Given the description of an element on the screen output the (x, y) to click on. 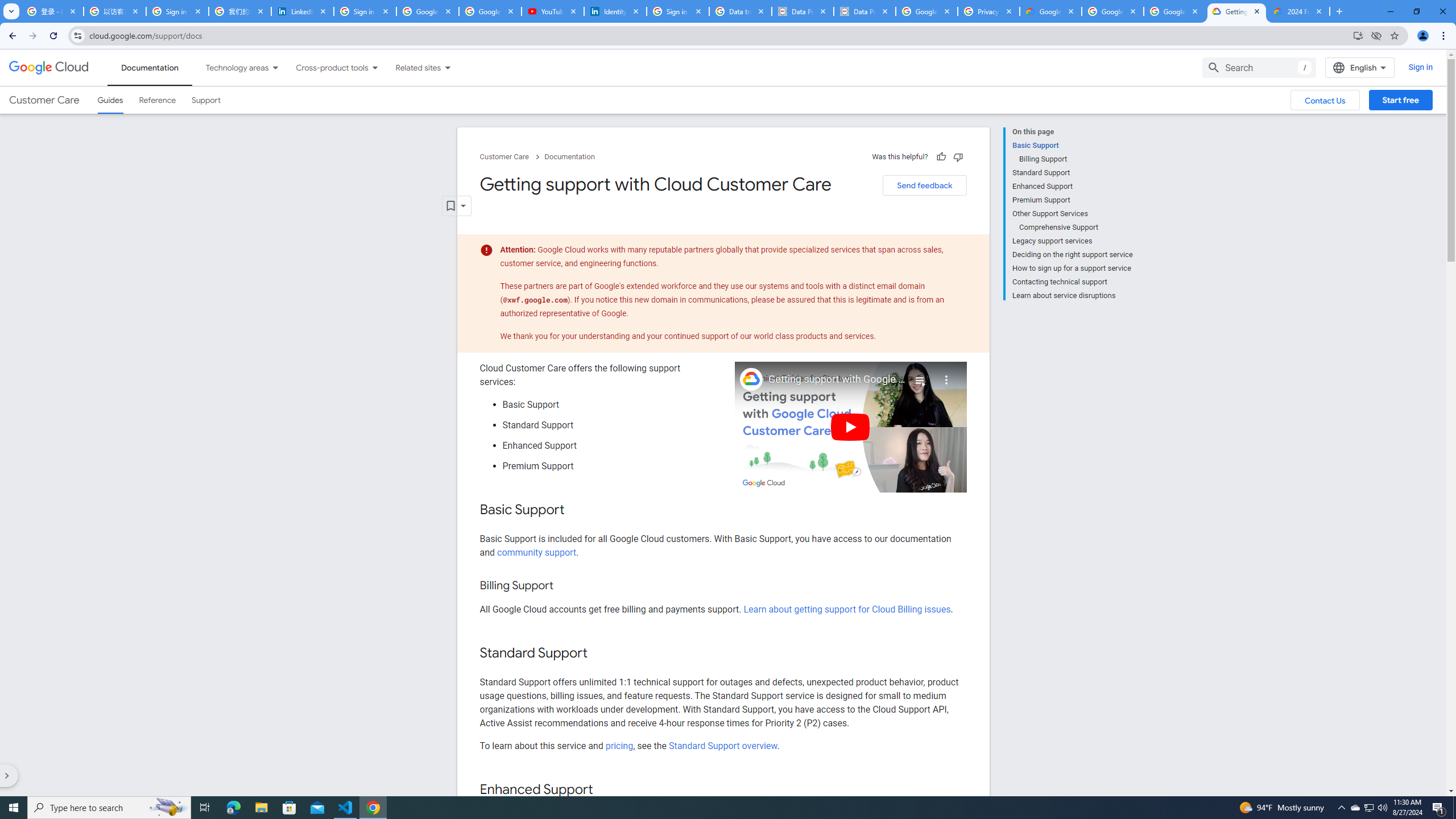
Basic Support (1071, 145)
Premium Support (1071, 200)
Dropdown menu for Cross-product tools (374, 67)
Google Workspace - Specific Terms (1174, 11)
Dropdown menu for Related sites (447, 67)
Sign in - Google Accounts (177, 11)
Cross-product tools (325, 67)
Getting support with Google Cloud Customer Care (837, 379)
Learn about getting support for Cloud Billing issues (847, 609)
